Given the description of an element on the screen output the (x, y) to click on. 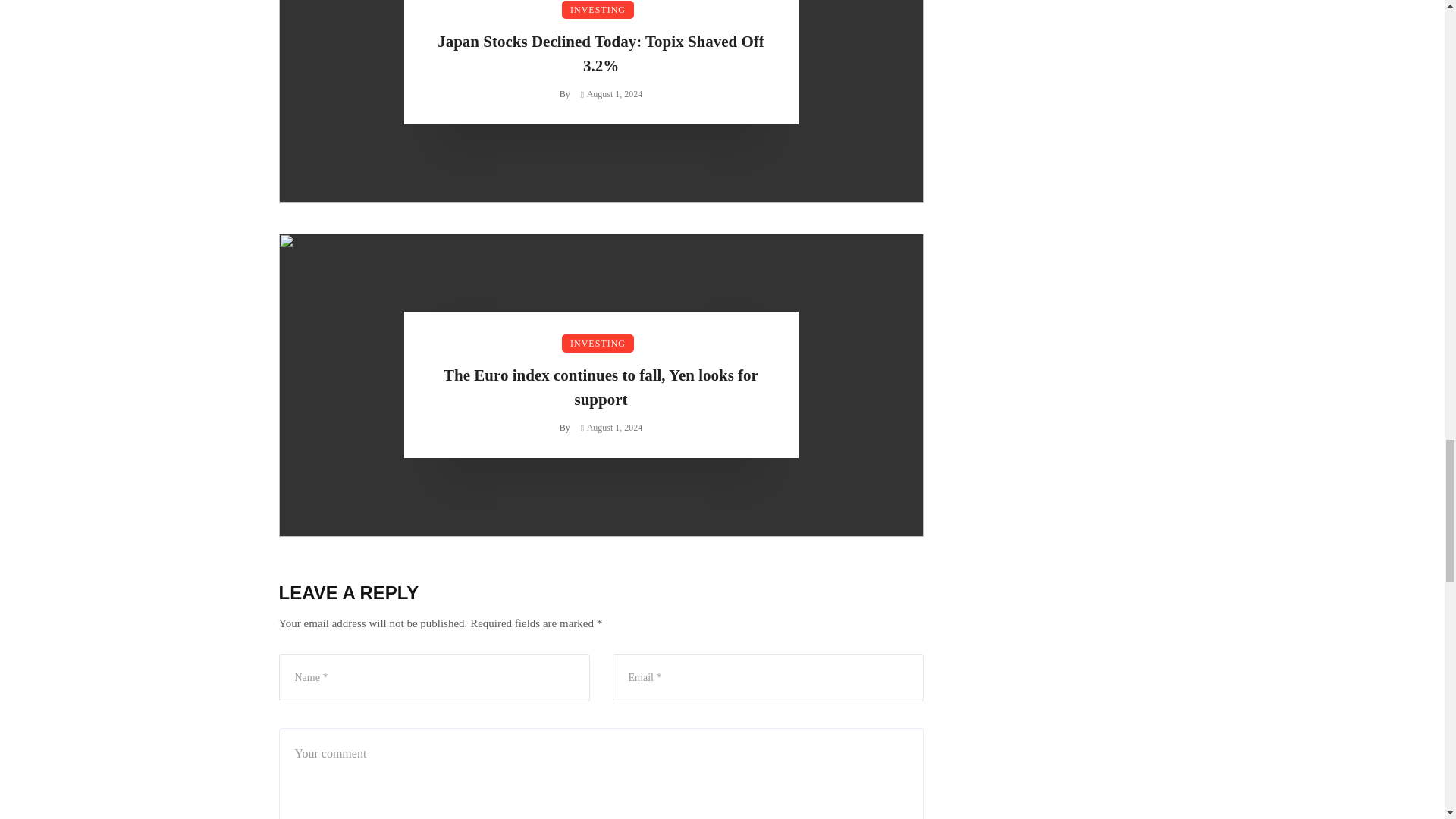
INVESTING (597, 9)
